Given the description of an element on the screen output the (x, y) to click on. 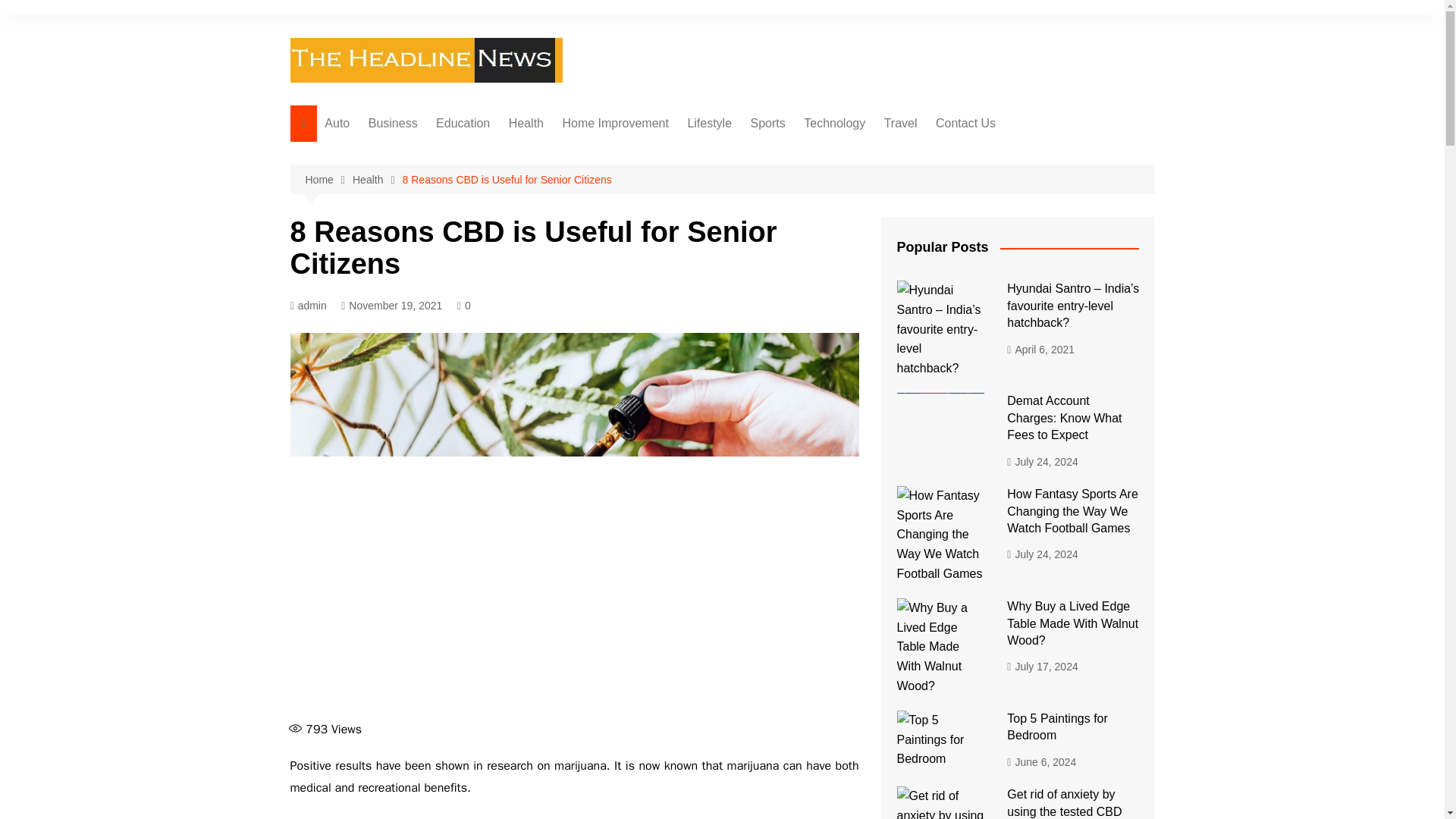
Law (444, 229)
Contact Us (965, 123)
8 Reasons CBD is Useful for Senior Citizens (507, 179)
Insurance (444, 204)
Lifestyle (709, 123)
Digital Marketing (879, 154)
Business (393, 123)
Sports (767, 123)
November 19, 2021 (391, 305)
Food (584, 154)
